Given the description of an element on the screen output the (x, y) to click on. 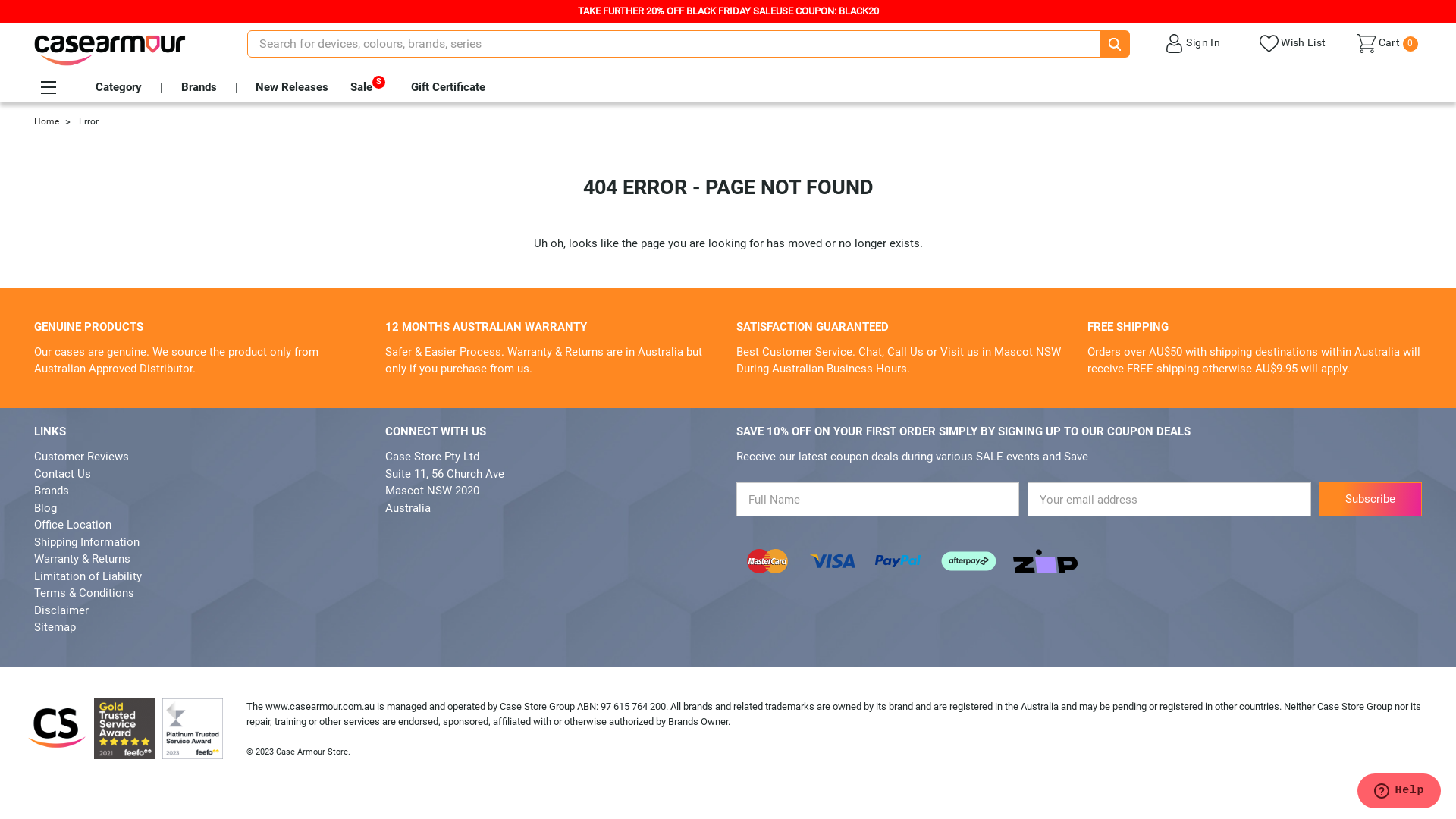
Sign In Element type: text (1192, 42)
Office Location Element type: text (72, 524)
Sitemap Element type: text (54, 626)
Gift Certificate Element type: text (448, 87)
Wish List Element type: text (1292, 42)
Toggle Menu Element type: text (47, 87)
Category Element type: text (118, 87)
Subscribe Element type: text (1370, 499)
Case Armour Store Element type: hover (109, 49)
Brands Element type: text (51, 490)
Opens a widget where you can chat to one of our agents Element type: hover (1398, 792)
Feefo Platinum Trusted Service Award 2023 Element type: hover (192, 728)
Home Element type: text (46, 120)
Cart 0 Element type: text (1386, 46)
Shipping Information Element type: text (86, 542)
Brands Element type: text (198, 87)
Disclaimer Element type: text (61, 610)
Limitation of Liability Element type: text (87, 576)
Error Element type: text (88, 120)
Blog Element type: text (45, 507)
Sale
S Element type: text (361, 87)
Warranty & Returns Element type: text (82, 558)
Customer Reviews Element type: text (81, 456)
Terms & Conditions Element type: text (84, 592)
Feefo Gold Trusted Service Award 2021 Element type: hover (124, 728)
Contact Us Element type: text (62, 473)
New Releases Element type: text (291, 87)
